Given the description of an element on the screen output the (x, y) to click on. 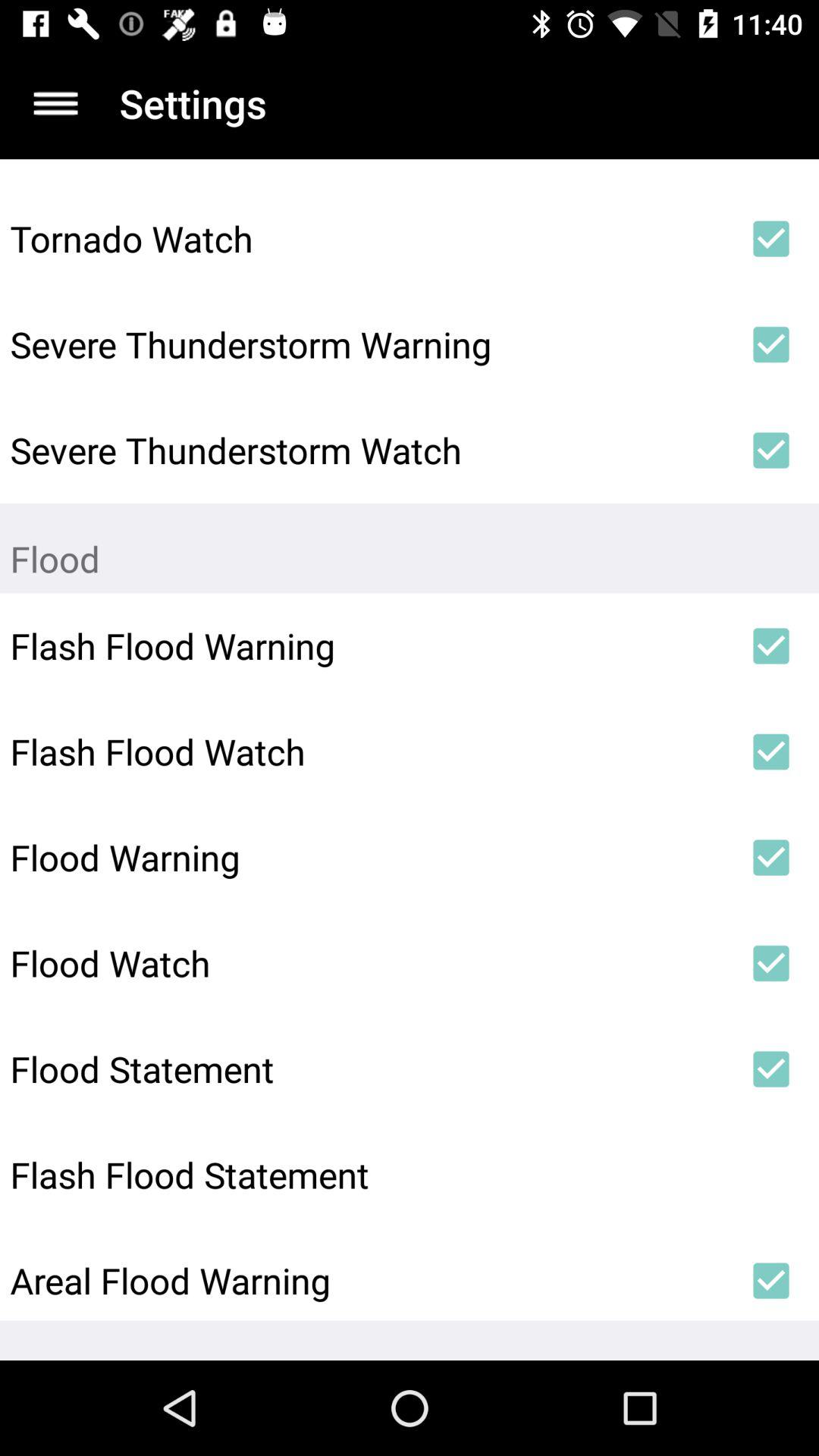
select menu (55, 103)
